Given the description of an element on the screen output the (x, y) to click on. 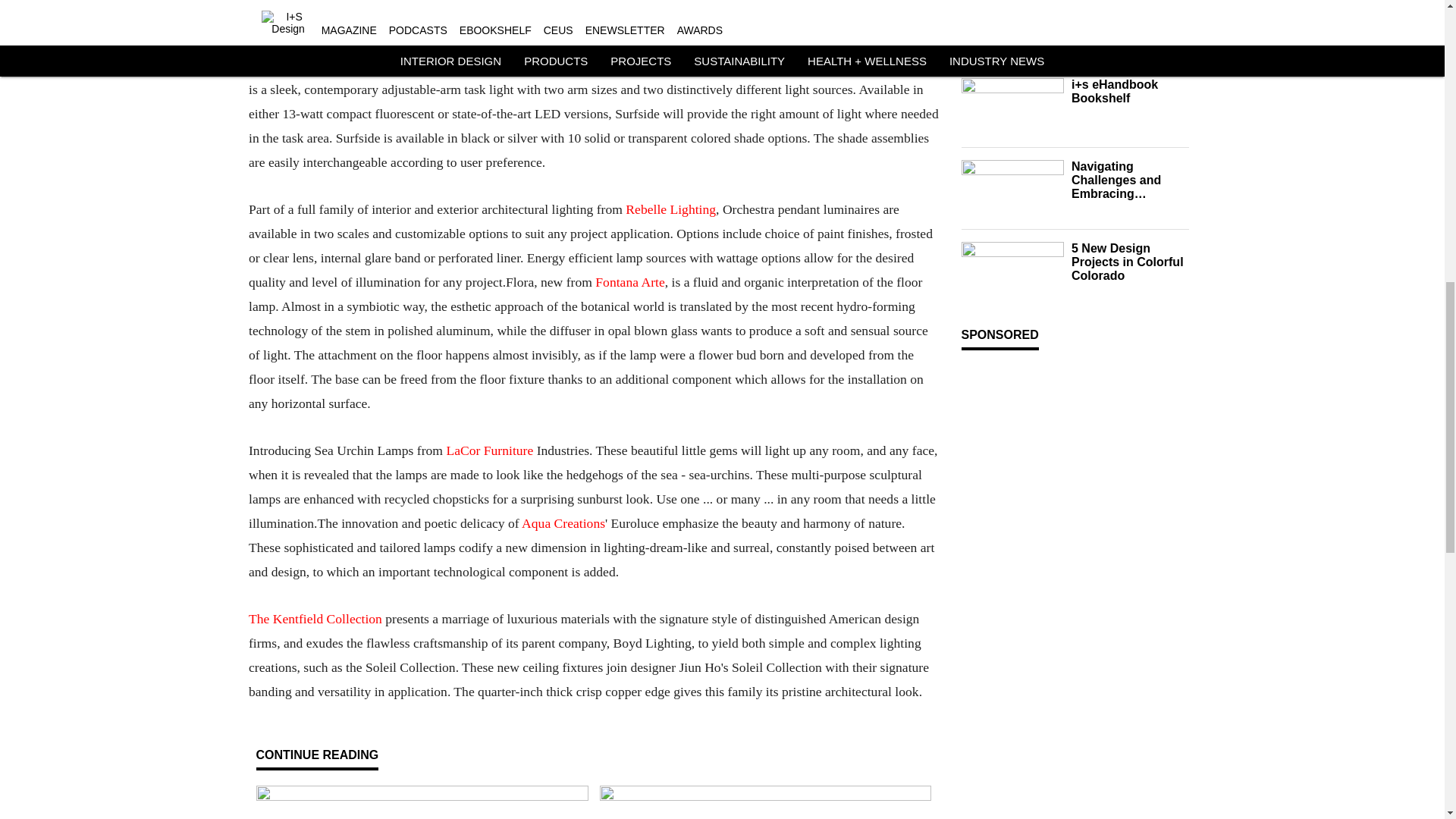
Maxim Lighting (1089, 4)
5 New Design Projects in Colorful Colorado (1129, 261)
Maxim Lighting Baywood chandelier (1012, 4)
